Given the description of an element on the screen output the (x, y) to click on. 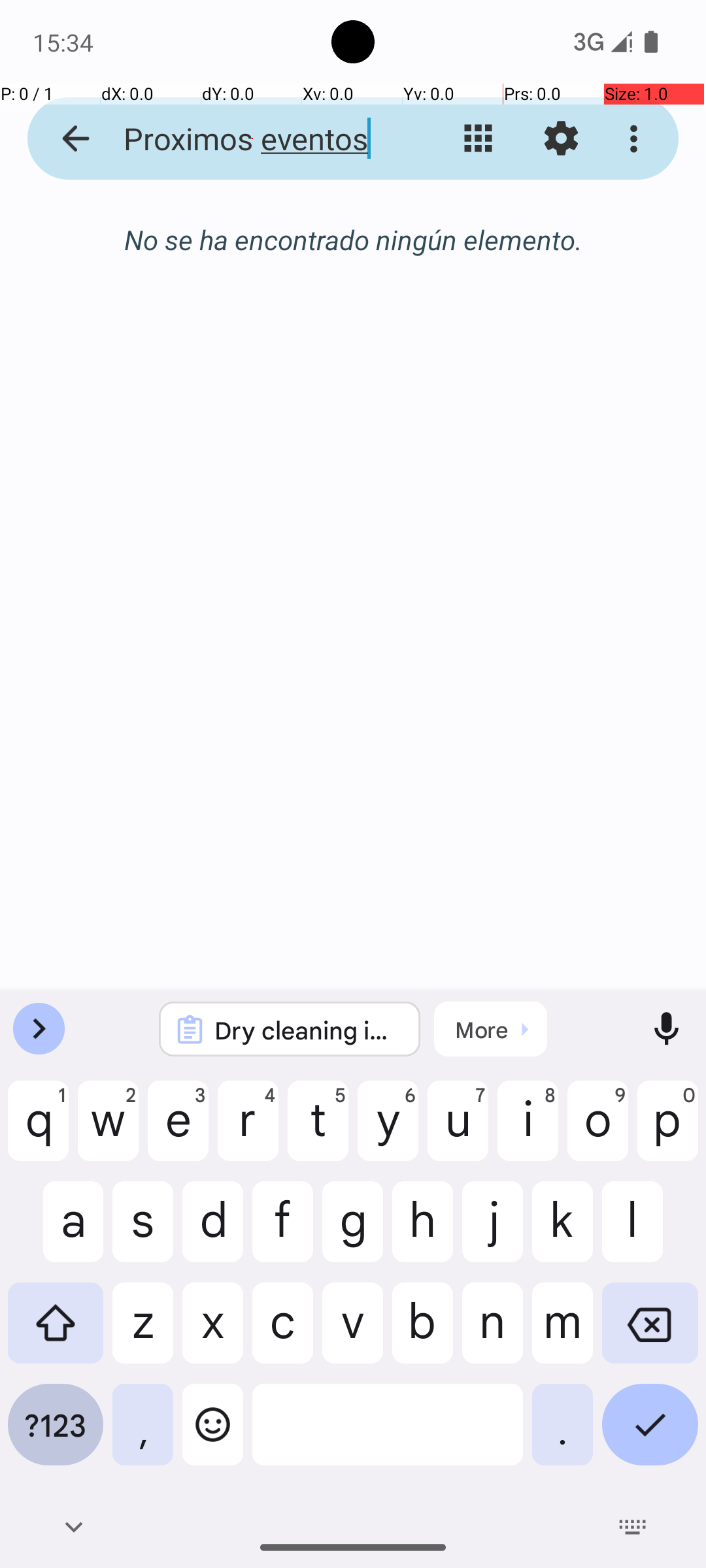
Proximos eventos Element type: android.widget.EditText (252, 138)
Dry cleaning is ready for pick-up. Element type: android.widget.TextView (306, 1029)
